Given the description of an element on the screen output the (x, y) to click on. 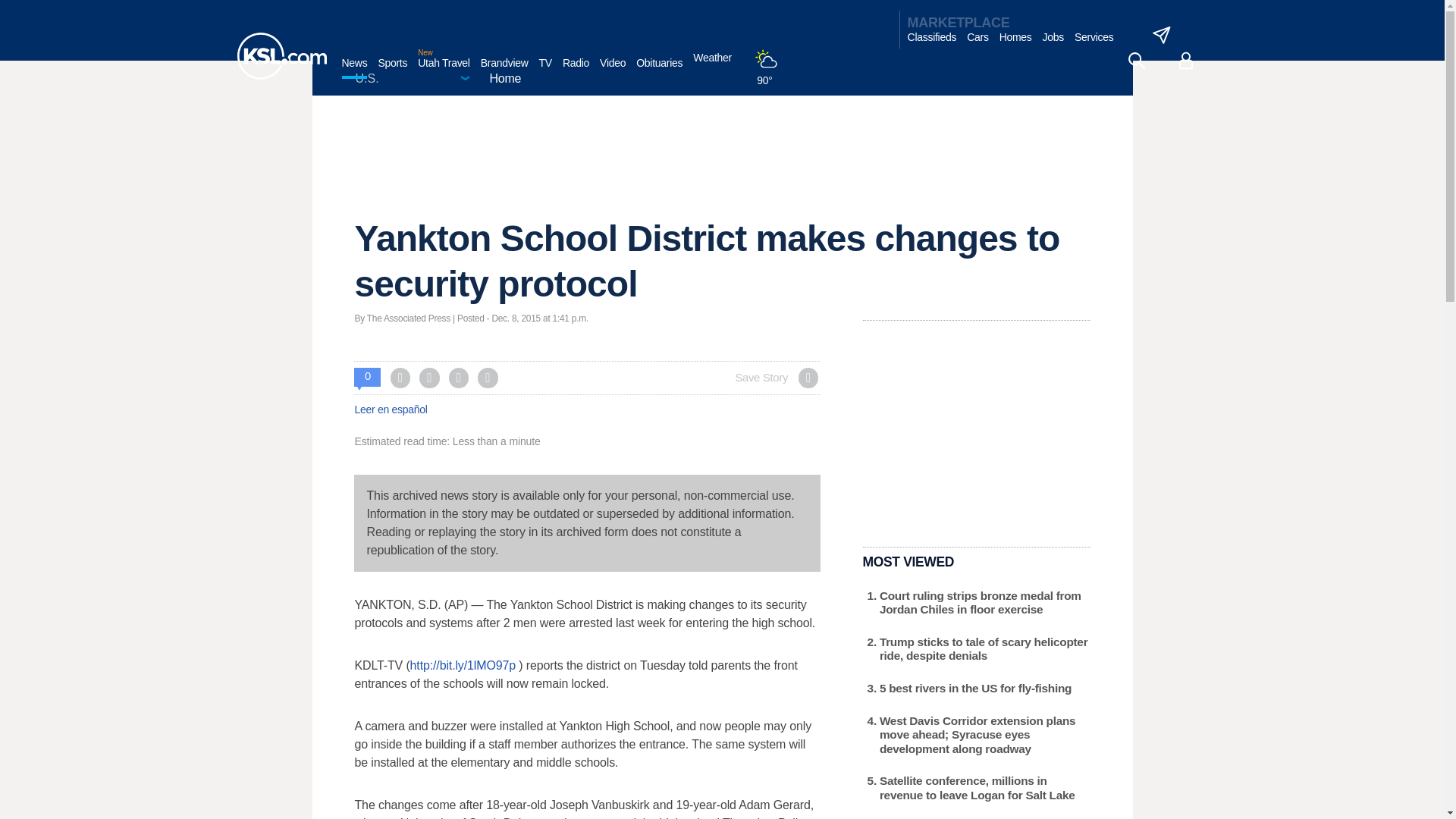
search (1135, 60)
account - logged out (1185, 60)
KSL homepage (280, 55)
